Given the description of an element on the screen output the (x, y) to click on. 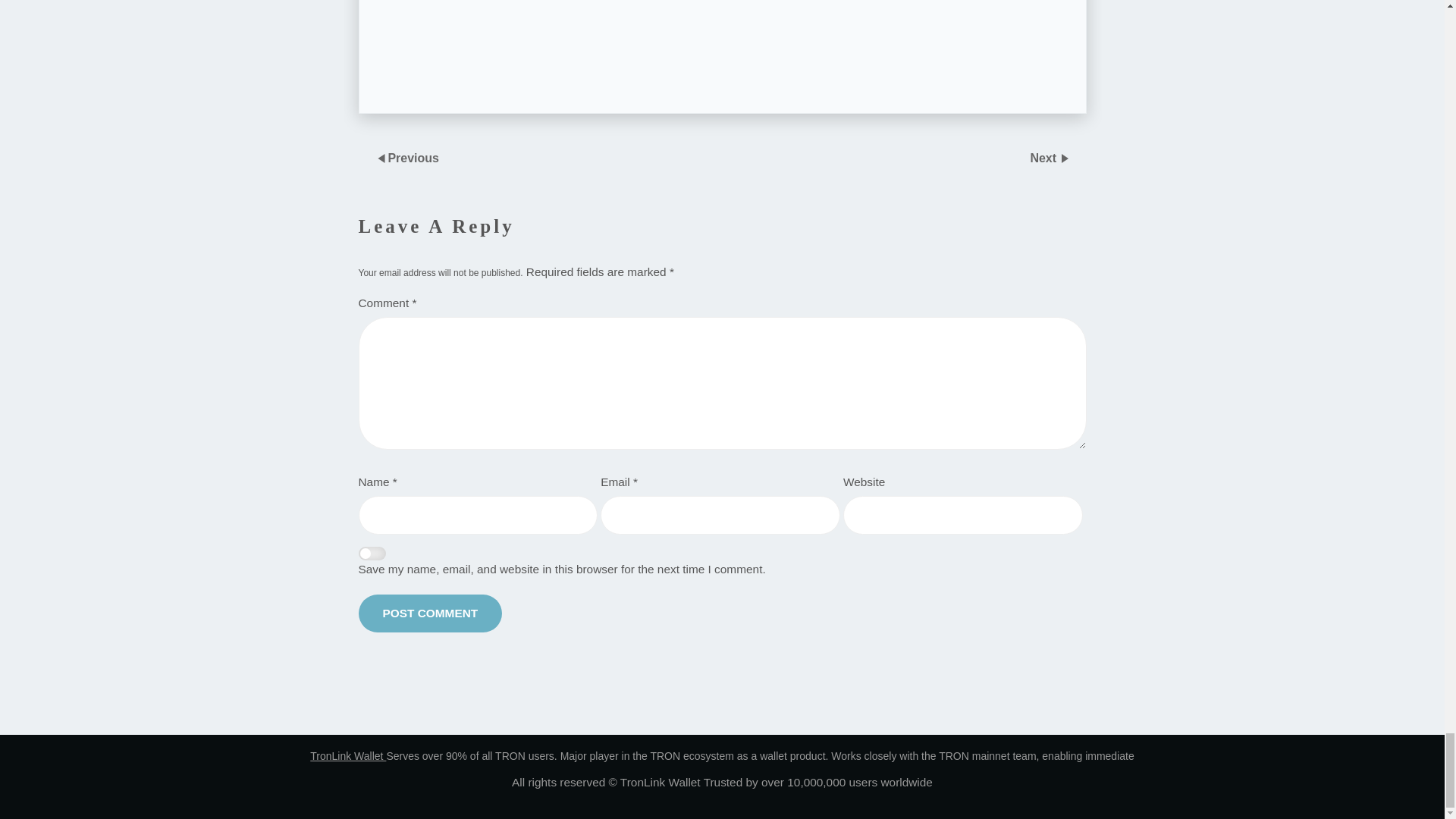
Post Comment (430, 613)
TronLink Wallet (347, 756)
yes (371, 553)
Next (1044, 156)
Previous (413, 156)
Post Comment (430, 613)
